Given the description of an element on the screen output the (x, y) to click on. 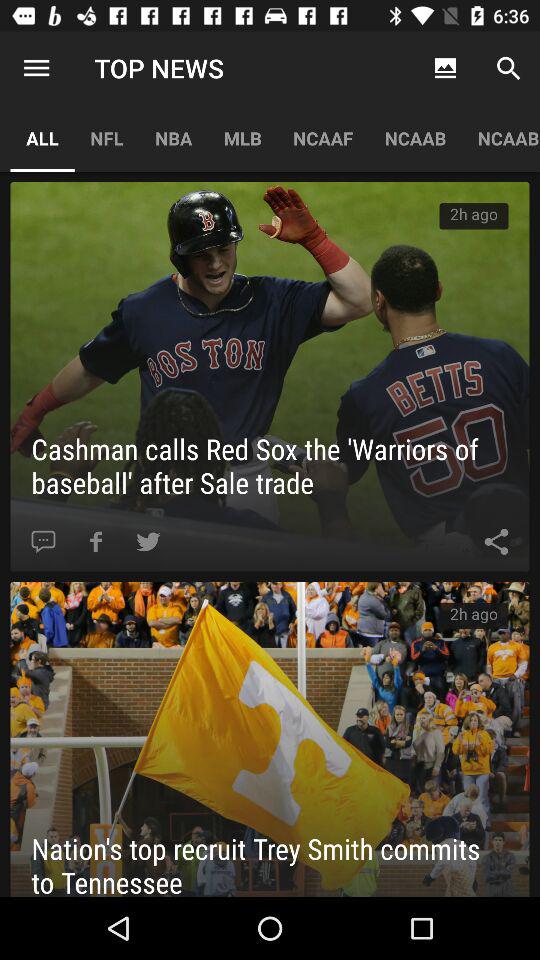
tap all item (42, 138)
